Given the description of an element on the screen output the (x, y) to click on. 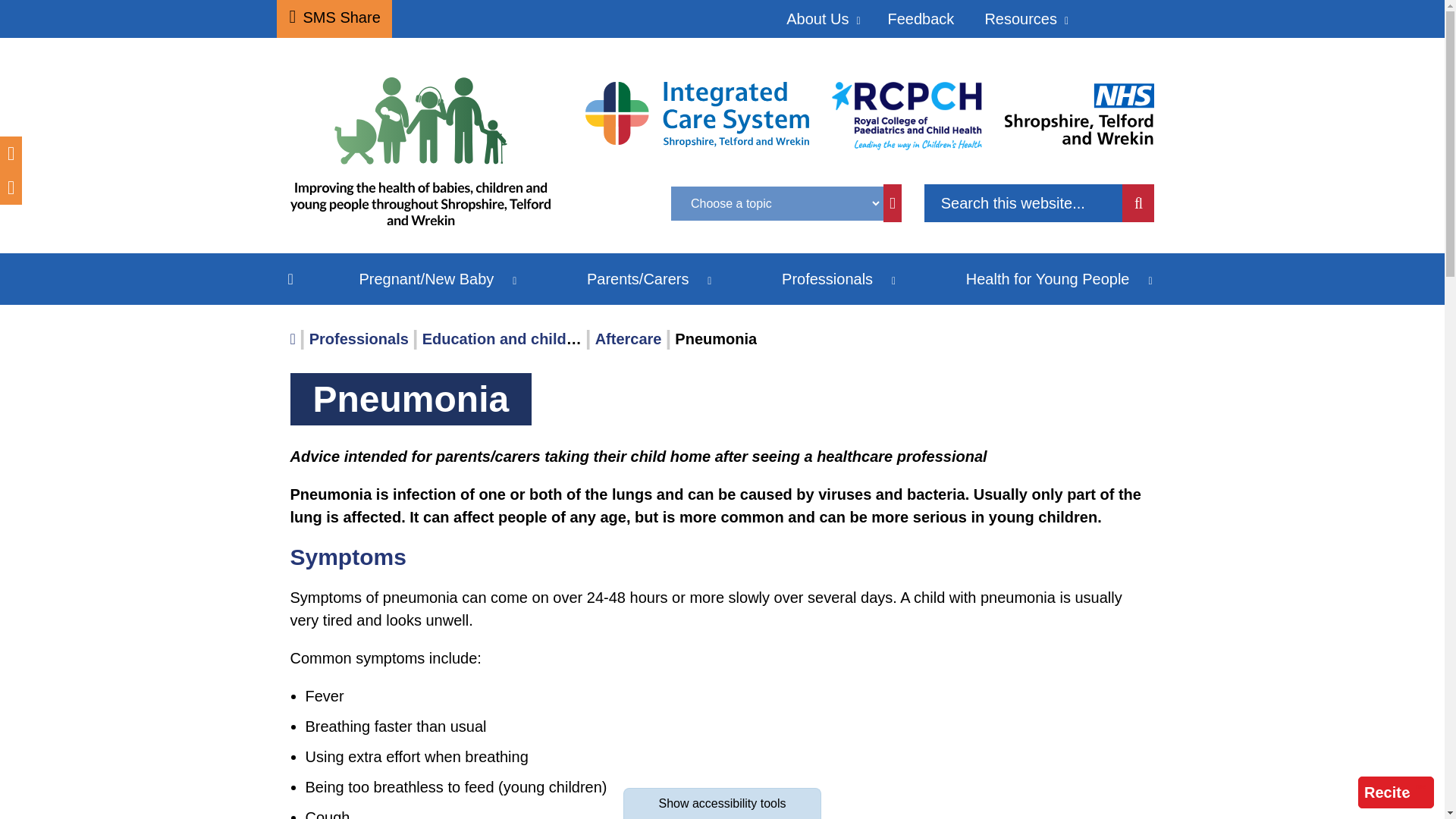
SMS Share (333, 18)
About Us (820, 18)
Homepage (425, 157)
Resources (1024, 18)
Send this link to a friend via text message! (333, 18)
The Royal College of Paediatrics and Child Health (906, 114)
STW NHS (1079, 112)
Show accessibility tools (722, 803)
Feedback (920, 18)
Shropshire, Telford and Wrekin Integrated Care System (697, 113)
